Given the description of an element on the screen output the (x, y) to click on. 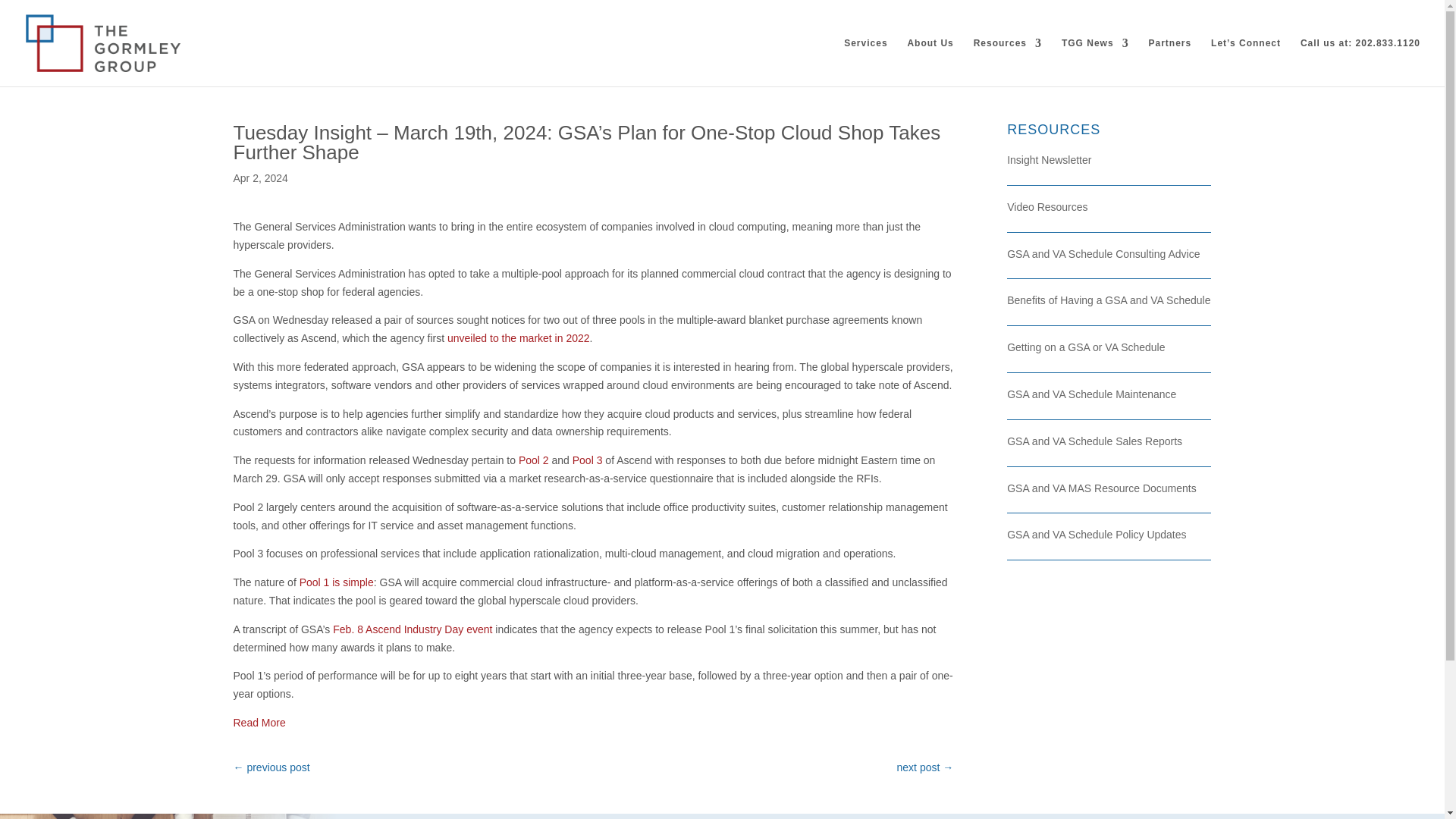
Services (865, 61)
Resources (1008, 61)
Partners (1170, 61)
TGG News (1095, 61)
About Us (930, 61)
Call us at: 202.833.1120 (1360, 61)
